Given the description of an element on the screen output the (x, y) to click on. 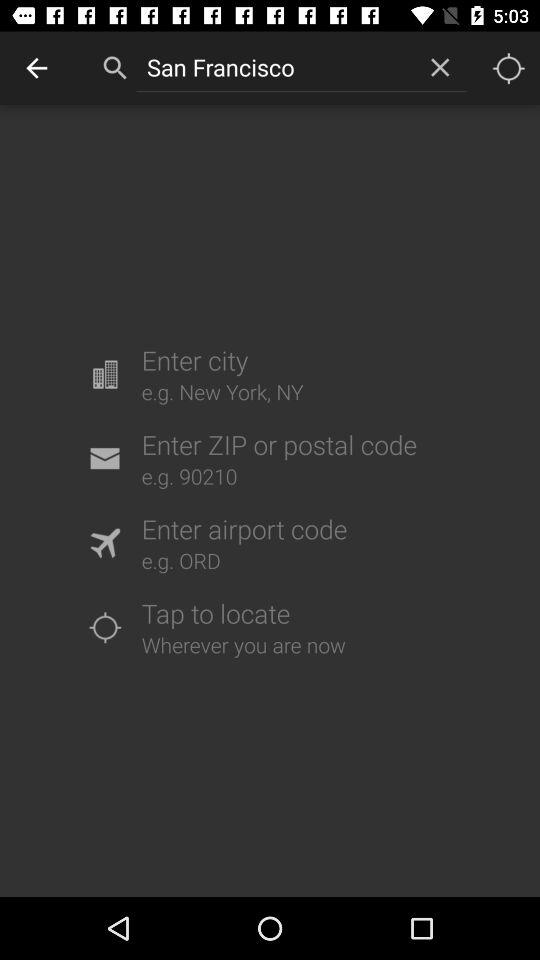
choose icon next to the san francisco item (439, 67)
